Given the description of an element on the screen output the (x, y) to click on. 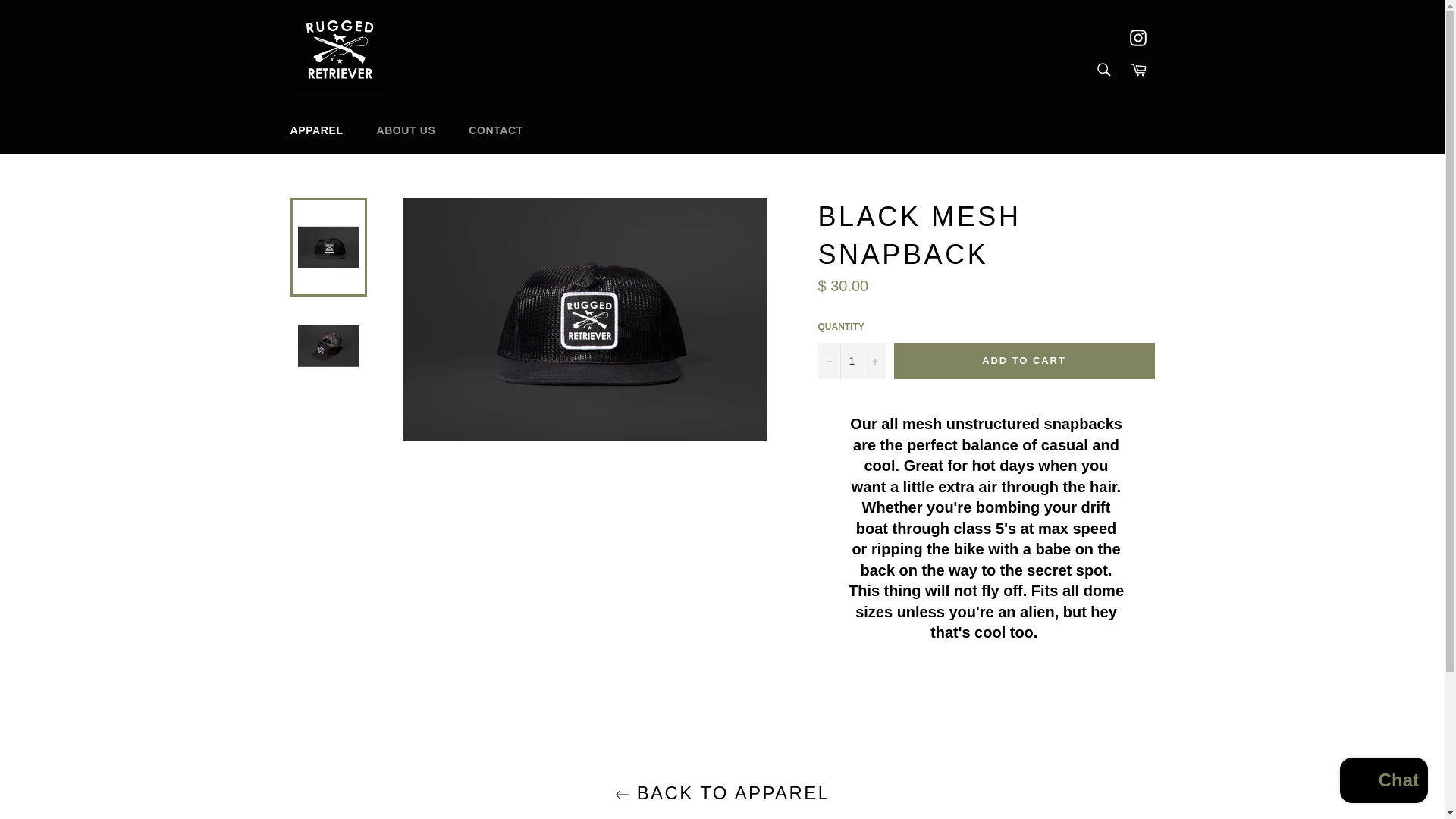
ADD TO CART (1023, 361)
Instagram (1138, 38)
APPAREL (316, 130)
Search (1103, 69)
ABOUT US (405, 130)
1 (850, 361)
CONTACT (495, 130)
Rugged Retriever on Instagram (1138, 38)
BACK TO APPAREL (721, 792)
Shopify online store chat (1383, 781)
Cart (1138, 69)
